Given the description of an element on the screen output the (x, y) to click on. 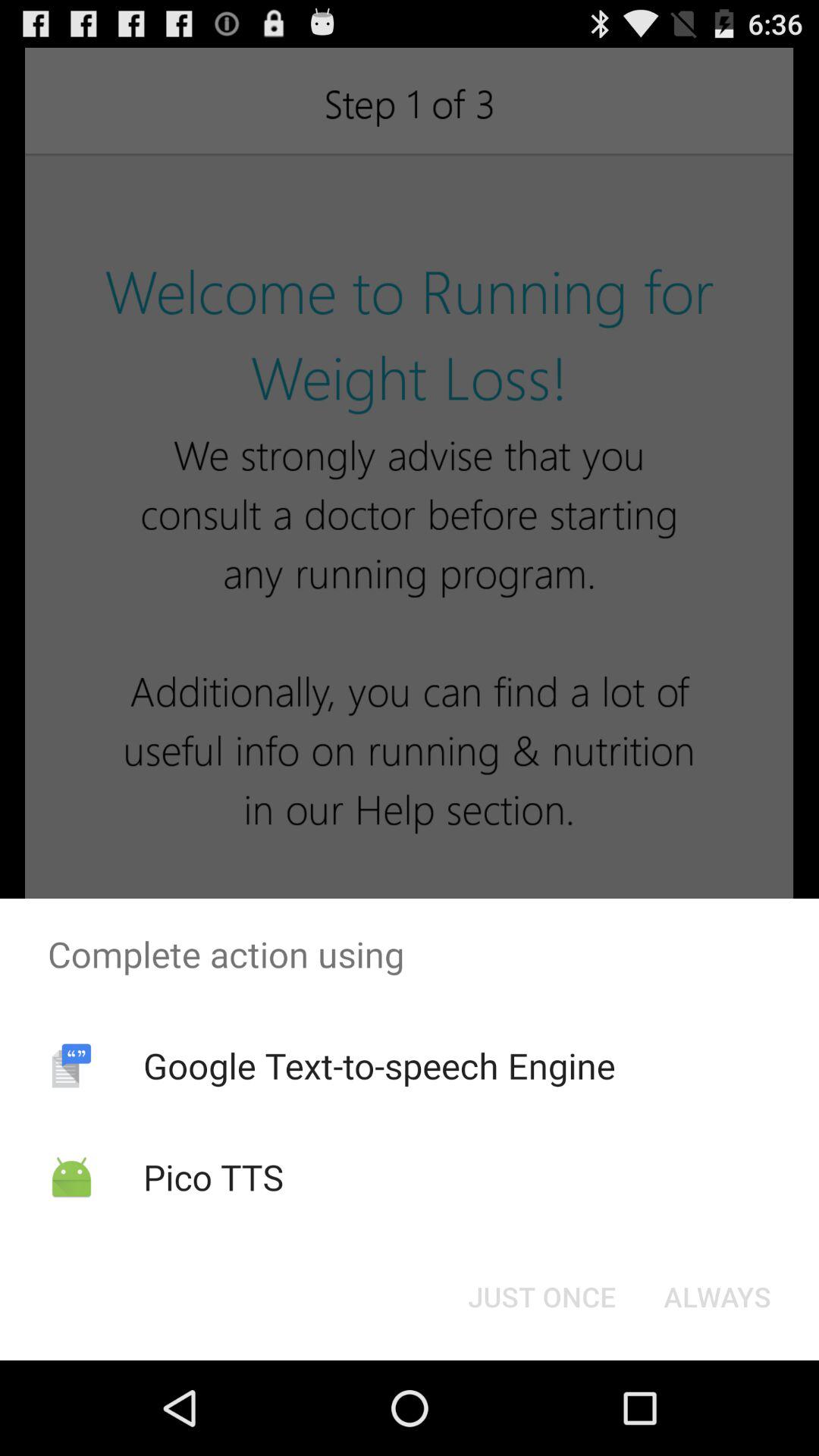
jump to just once icon (541, 1296)
